Given the description of an element on the screen output the (x, y) to click on. 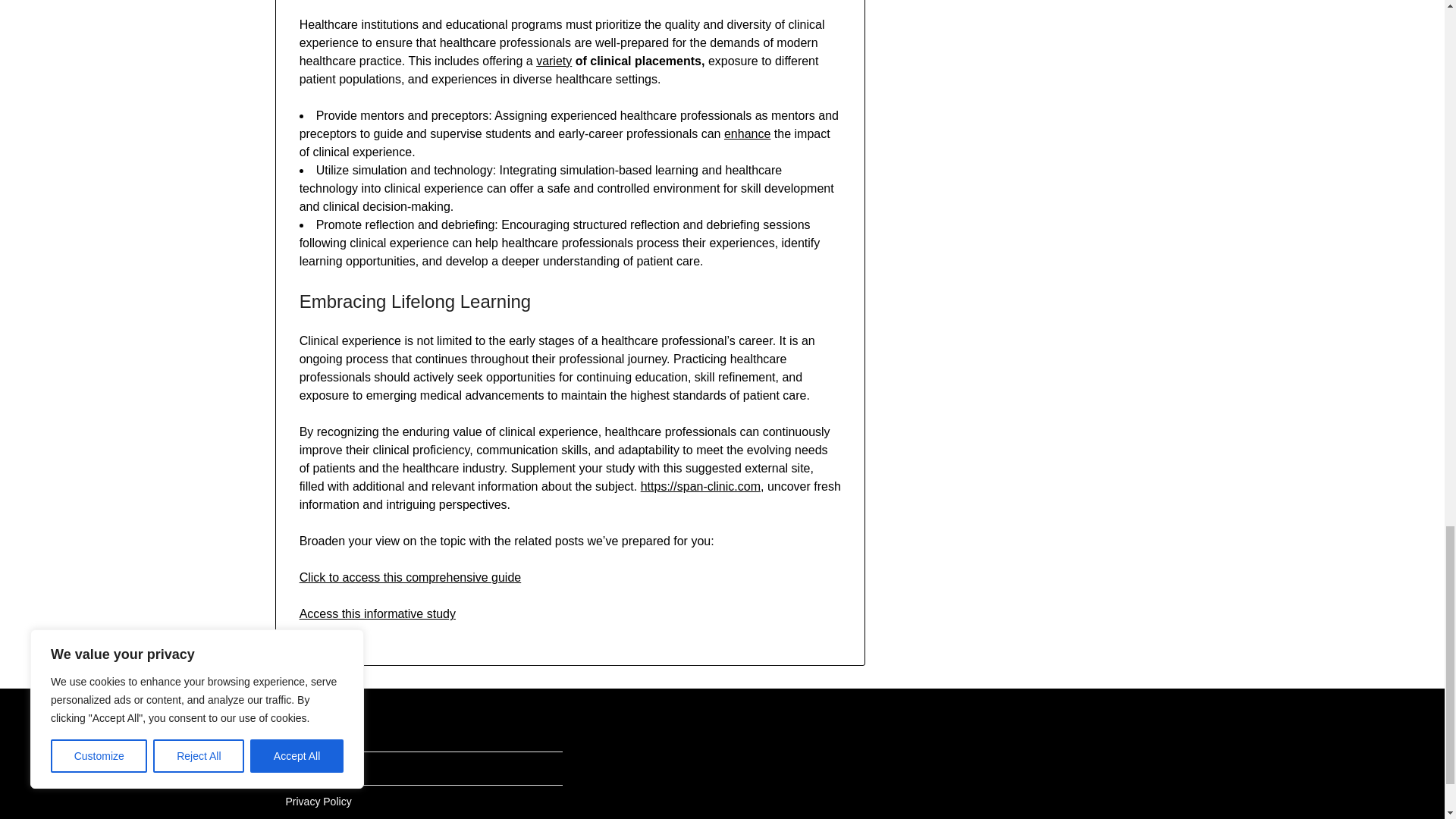
Click to access this comprehensive guide (410, 576)
Access this informative study (377, 613)
enhance (746, 133)
variety (553, 60)
